Given the description of an element on the screen output the (x, y) to click on. 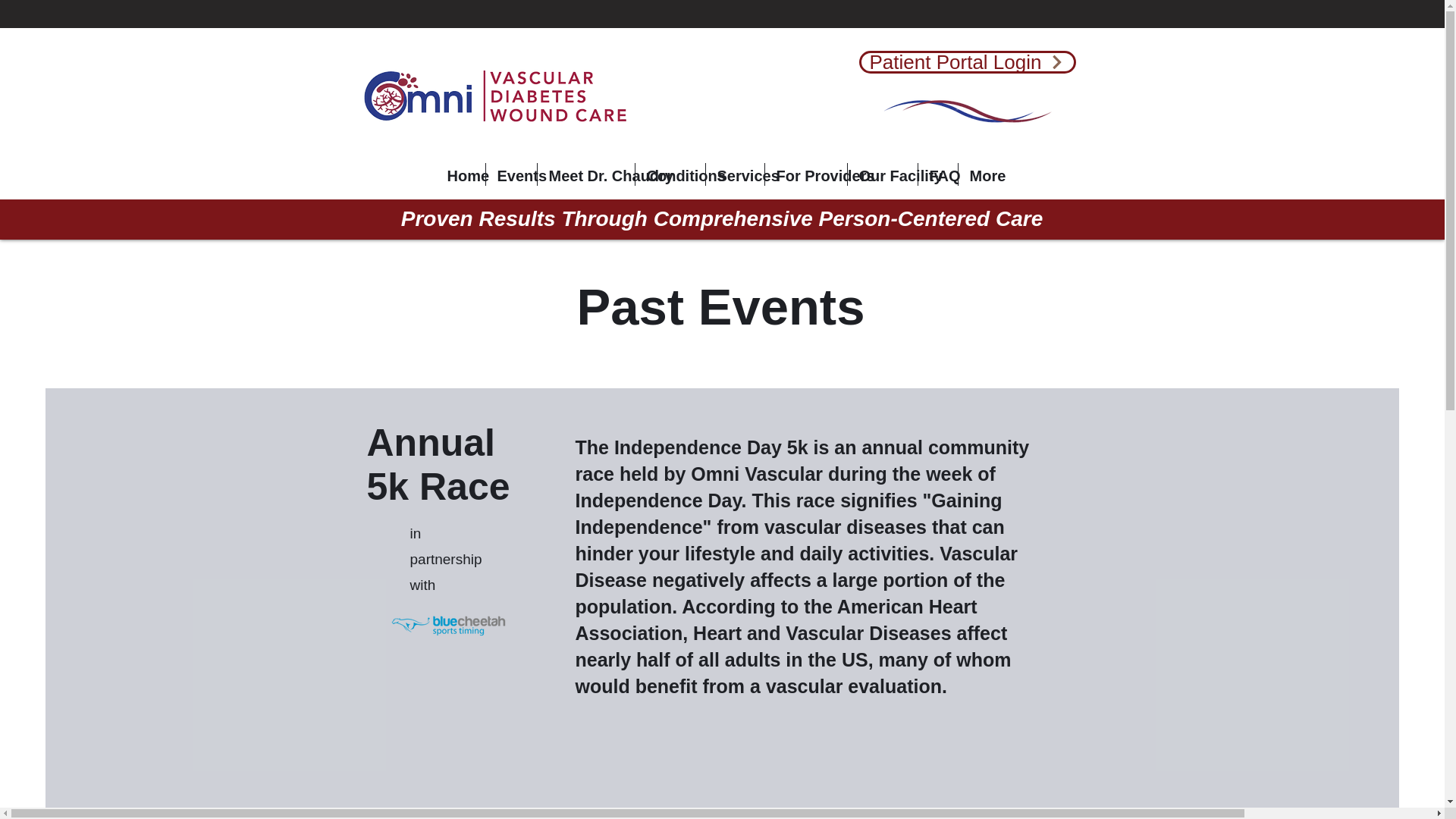
Patient Portal Login (967, 61)
Conditions (669, 173)
Services (733, 173)
FAQ (936, 173)
Home (459, 173)
Events (509, 173)
Our Facility (882, 173)
Meet Dr. Chaudry (585, 173)
For Providers (804, 173)
